Given the description of an element on the screen output the (x, y) to click on. 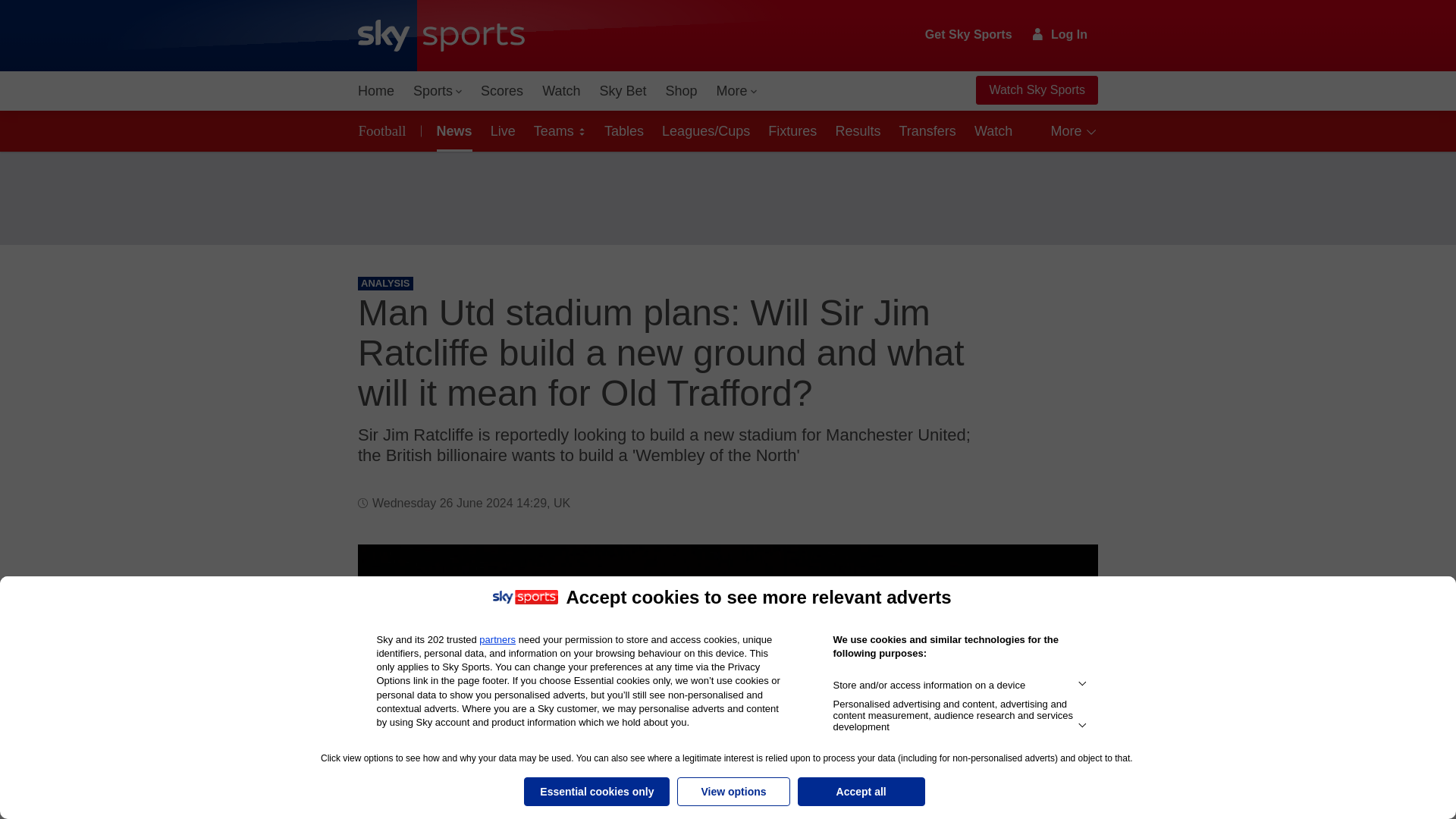
Sports (437, 91)
Scores (502, 91)
News (451, 130)
Watch (561, 91)
Sky Bet (622, 91)
Home (375, 91)
Share (1067, 574)
Watch Sky Sports (1036, 90)
More (736, 91)
Shop (681, 91)
Log In (1060, 33)
Football (385, 130)
Get Sky Sports (968, 34)
